Given the description of an element on the screen output the (x, y) to click on. 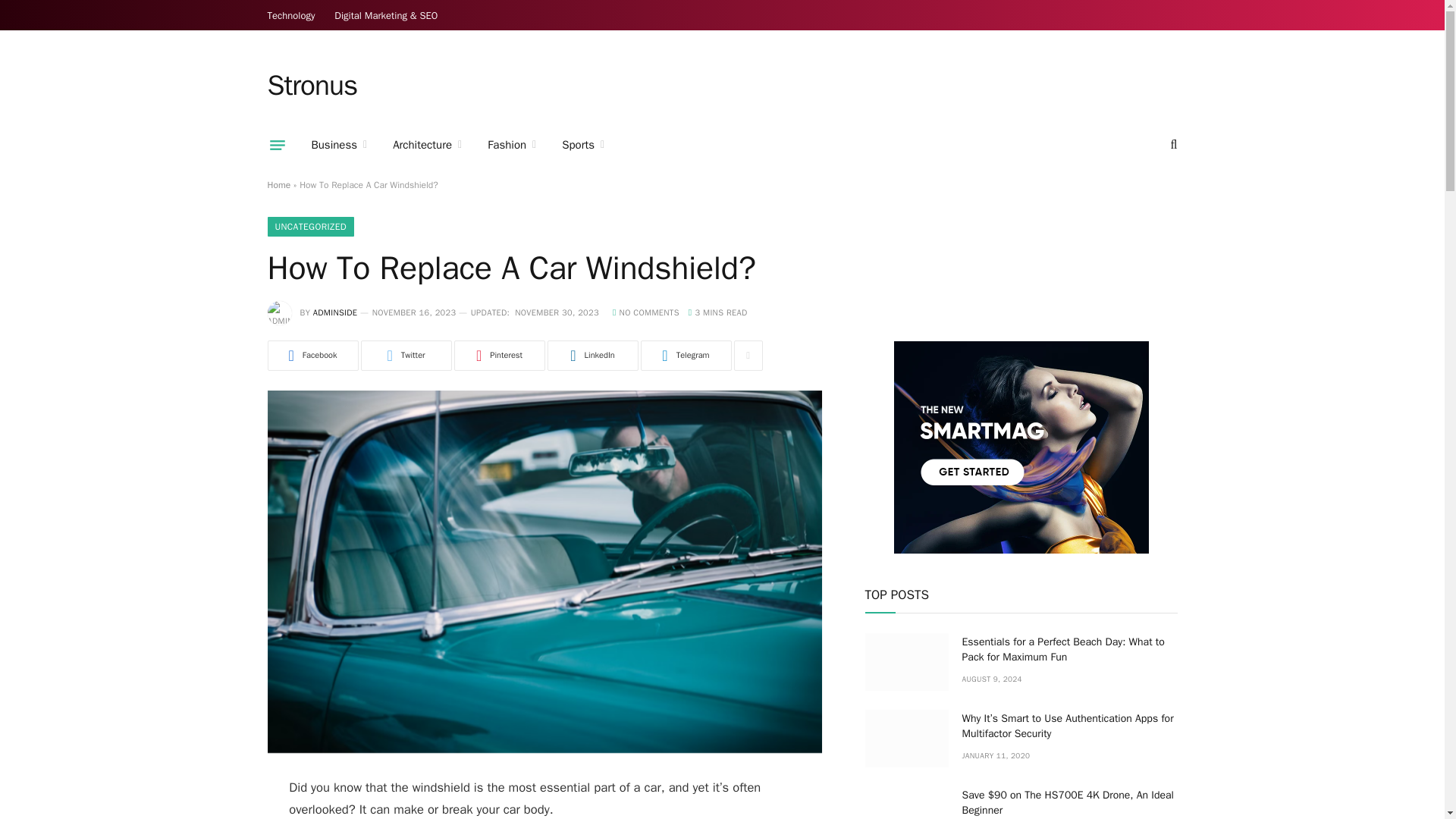
Show More Social Sharing (747, 355)
Stronus (311, 85)
Share on Facebook (312, 355)
Share on Telegram (685, 355)
Business (339, 144)
Share on LinkedIn (593, 355)
Share on Pinterest (498, 355)
Posts by adminside (335, 312)
Stronus (311, 85)
Technology (290, 15)
